Given the description of an element on the screen output the (x, y) to click on. 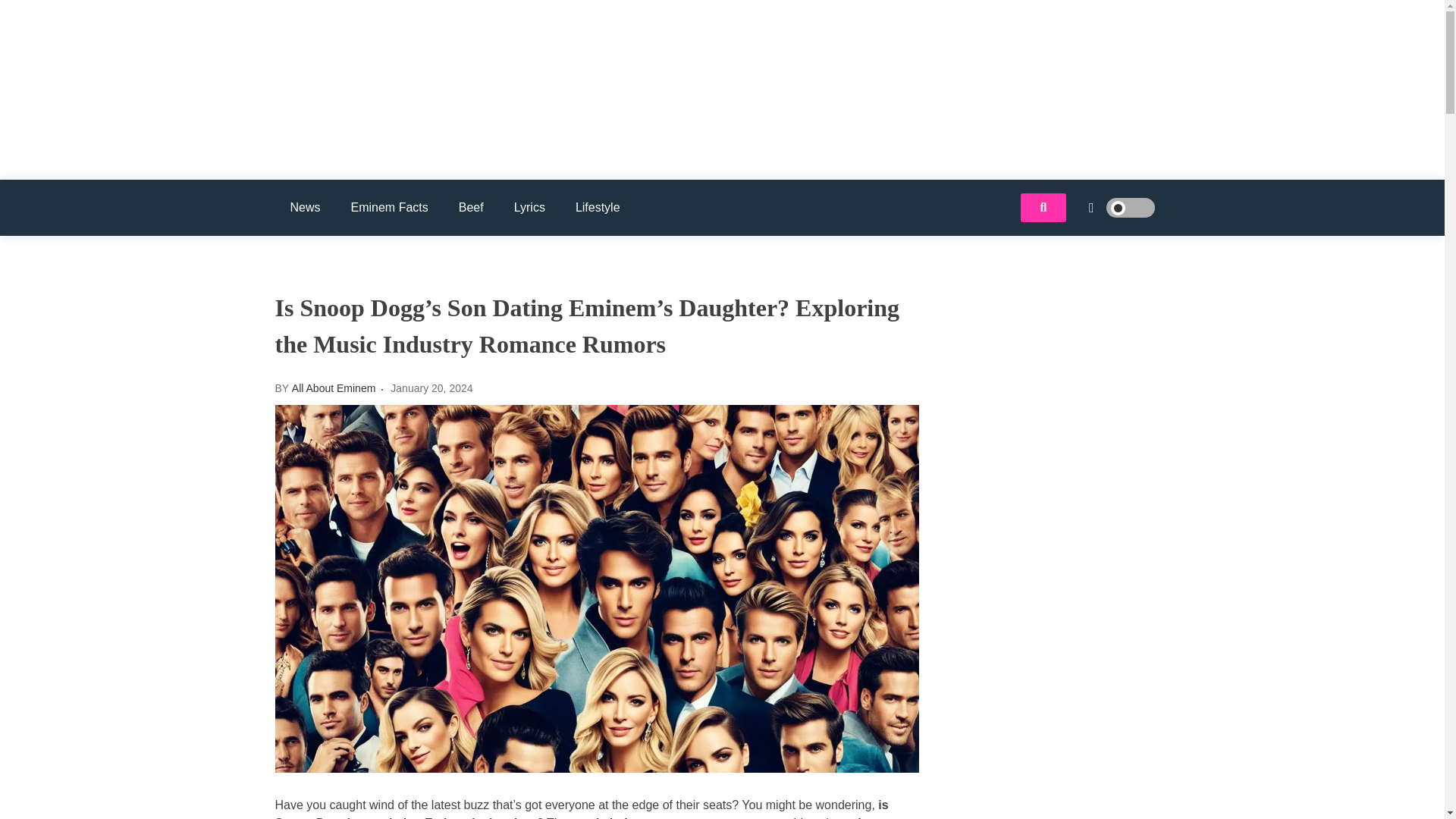
Beef (471, 207)
All About Eminem (366, 133)
Lifestyle (597, 207)
Eminem Facts (390, 207)
All About Eminem (333, 387)
January 20, 2024 (430, 387)
Lyrics (529, 207)
News (304, 207)
